Given the description of an element on the screen output the (x, y) to click on. 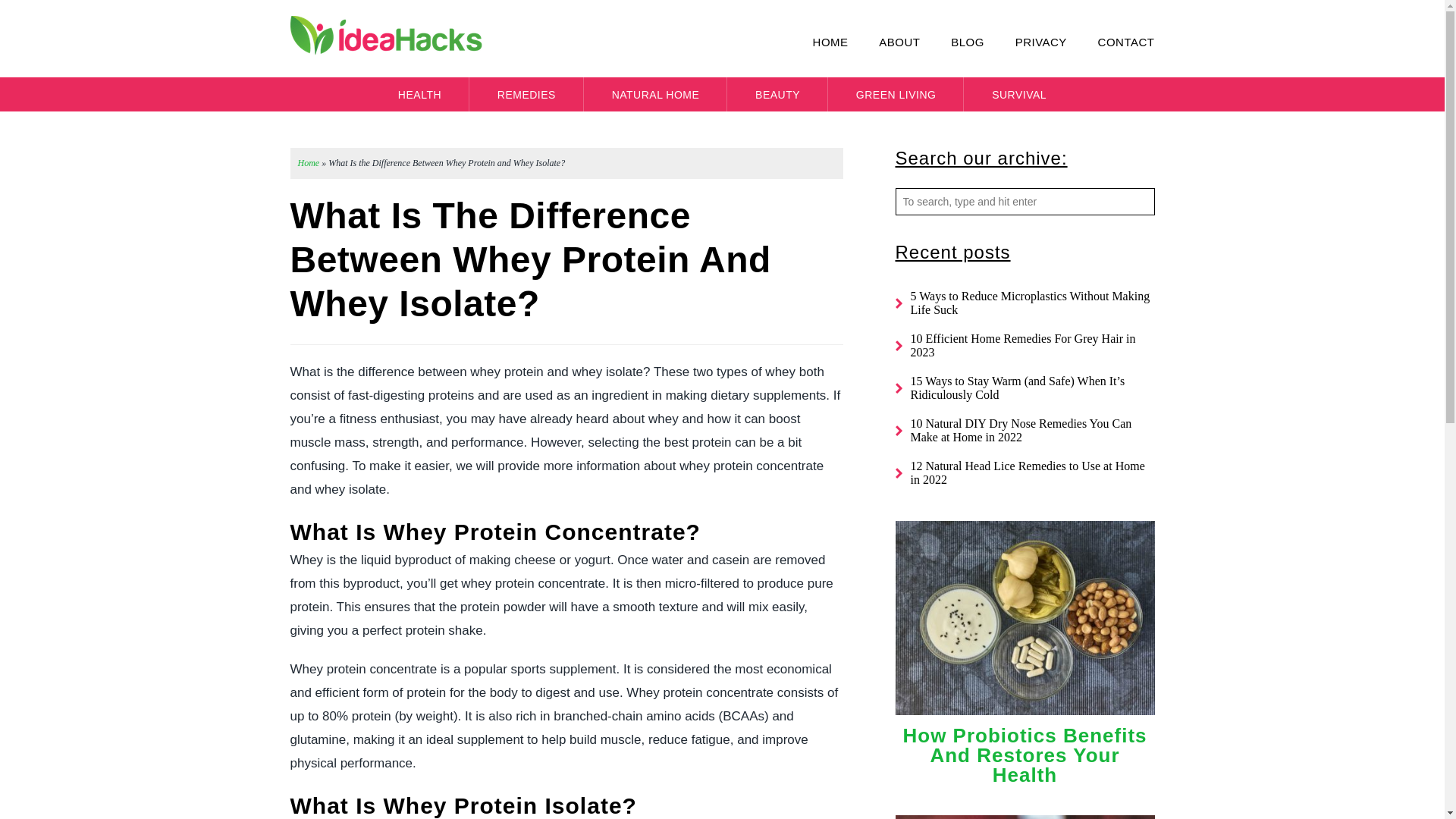
How Probiotics Benefits And Restores Your Health (1024, 718)
Home (307, 163)
12 Natural Head Lice Remedies to Use at Home in 2022 (1027, 472)
BEAUTY (777, 93)
REMEDIES (526, 93)
GREEN LIVING (895, 93)
5 Ways to Reduce Microplastics Without Making Life Suck (1030, 302)
How Probiotics Benefits And Restores Your Health (1024, 754)
PRIVACY (1027, 42)
BLOG (953, 42)
HEALTH (419, 93)
10 Efficient Home Remedies For Grey Hair in 2023 (1022, 345)
SURVIVAL (1018, 93)
ABOUT (885, 42)
